Given the description of an element on the screen output the (x, y) to click on. 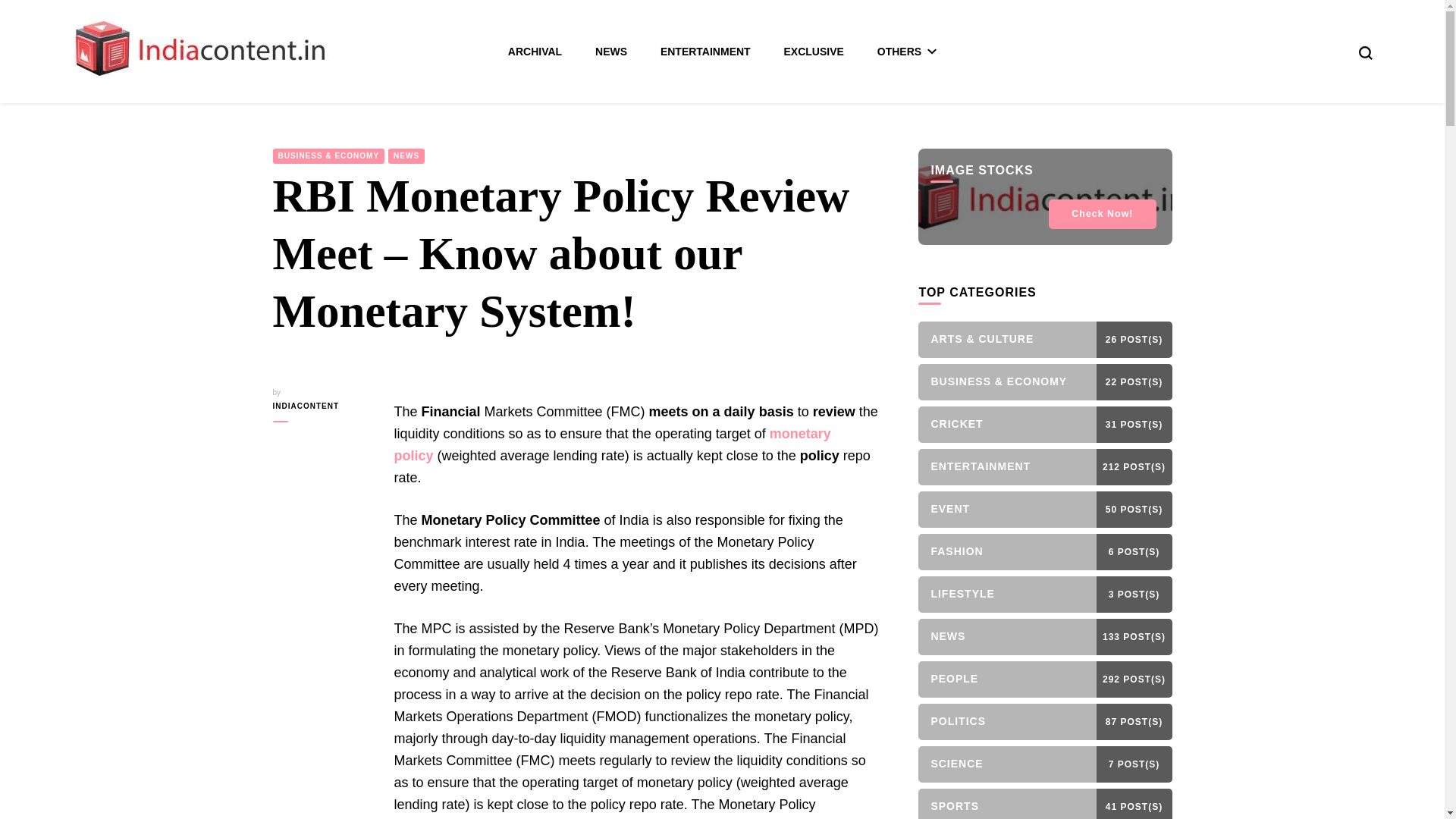
ENTERTAINMENT (706, 51)
ARCHIVAL (535, 51)
OTHERS (906, 51)
NEWS (611, 51)
EXCLUSIVE (814, 51)
